Given the description of an element on the screen output the (x, y) to click on. 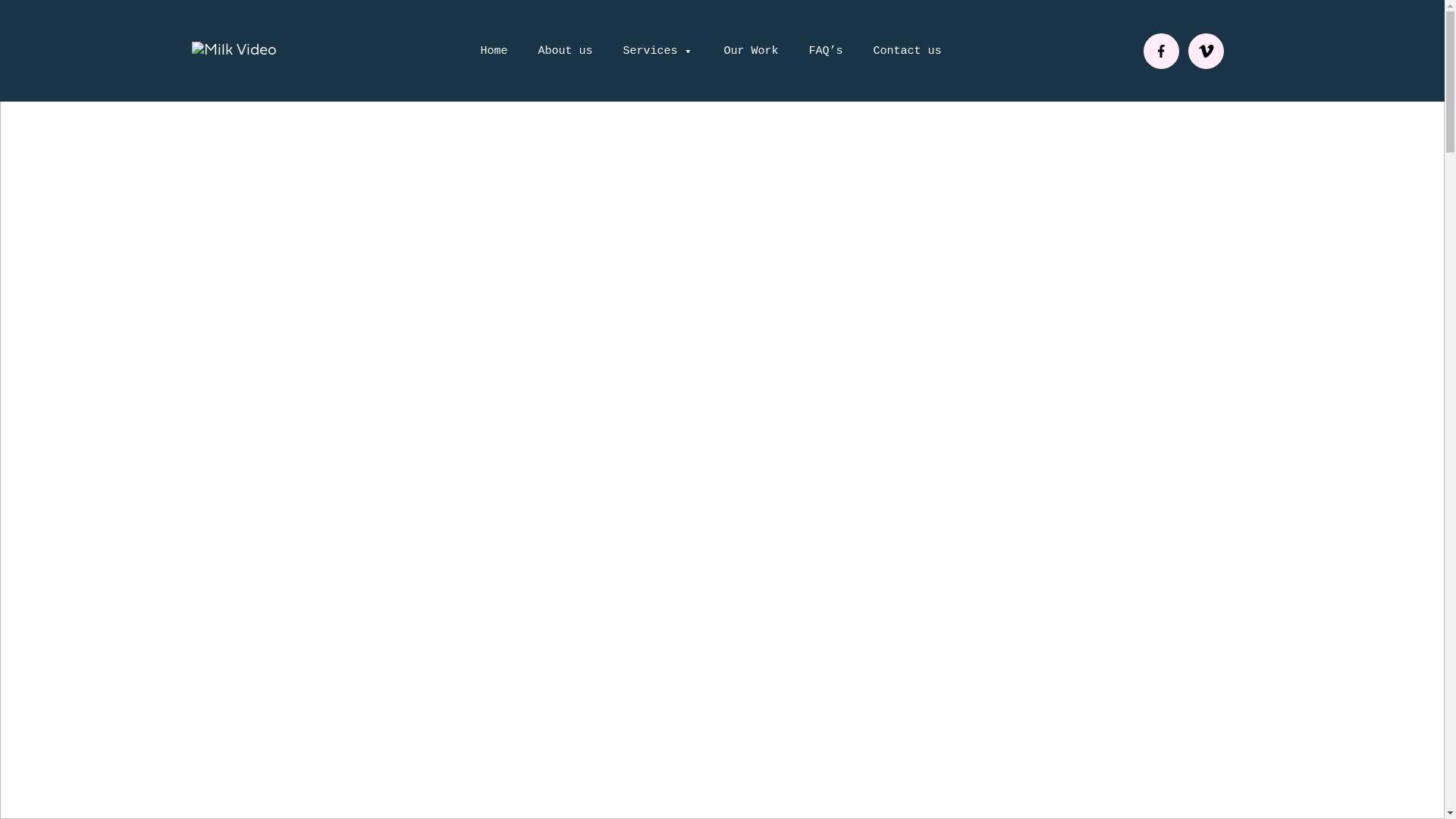
Contact us Element type: text (907, 50)
Services Element type: text (657, 50)
About us Element type: text (564, 50)
Watch our showreel Element type: text (288, 508)
Our Work Element type: text (750, 50)
Home Element type: text (493, 50)
